Given the description of an element on the screen output the (x, y) to click on. 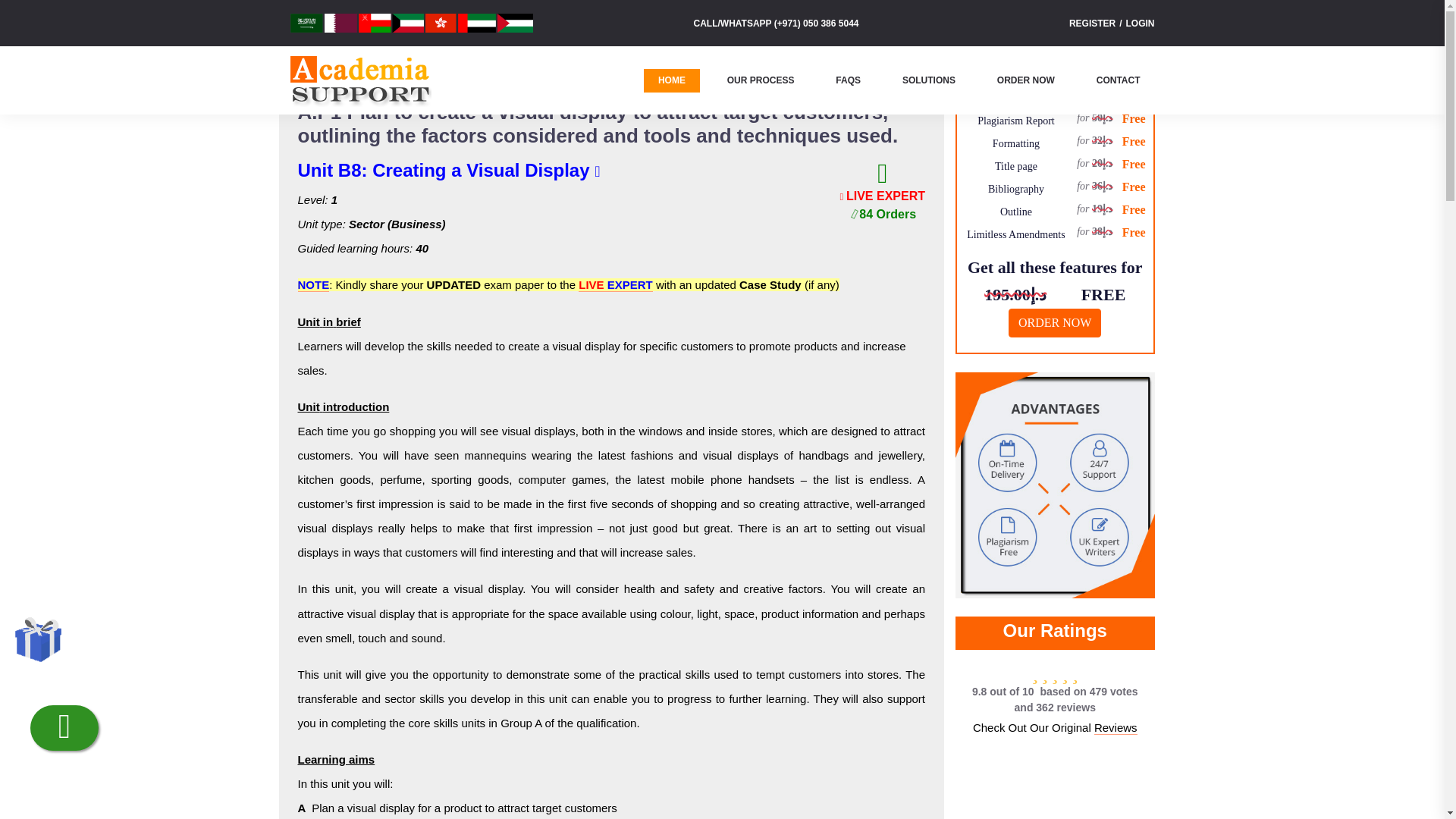
REGISTER (1091, 23)
FAQS (848, 79)
NOTE (313, 284)
ORDER NOW (1025, 79)
OUR PROCESS (761, 79)
EXPERT (628, 284)
Unit B8: Creating a Visual Display (443, 169)
CONTACT (1117, 79)
SOLUTIONS (928, 79)
